Given the description of an element on the screen output the (x, y) to click on. 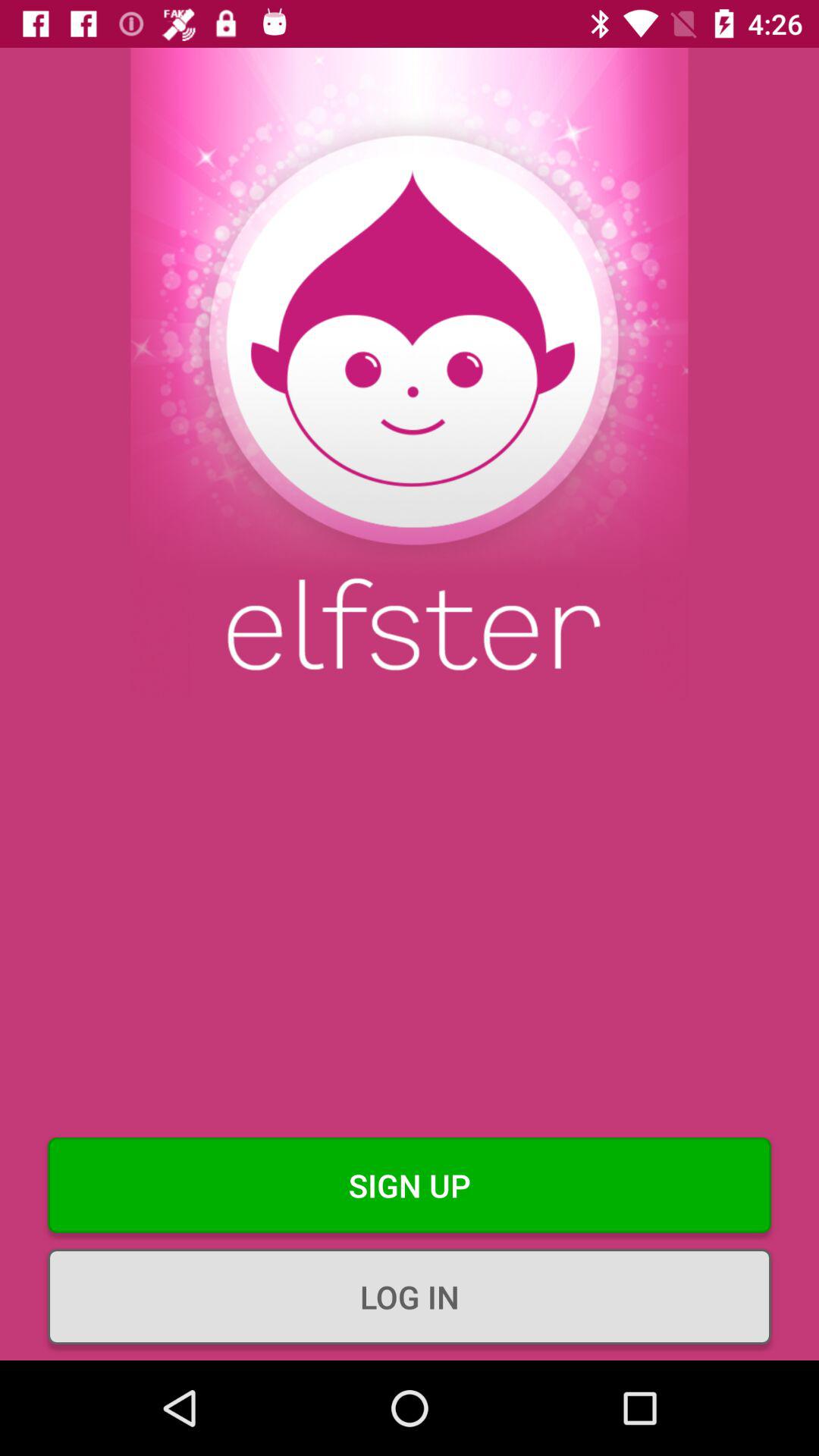
scroll until sign up (409, 1185)
